Given the description of an element on the screen output the (x, y) to click on. 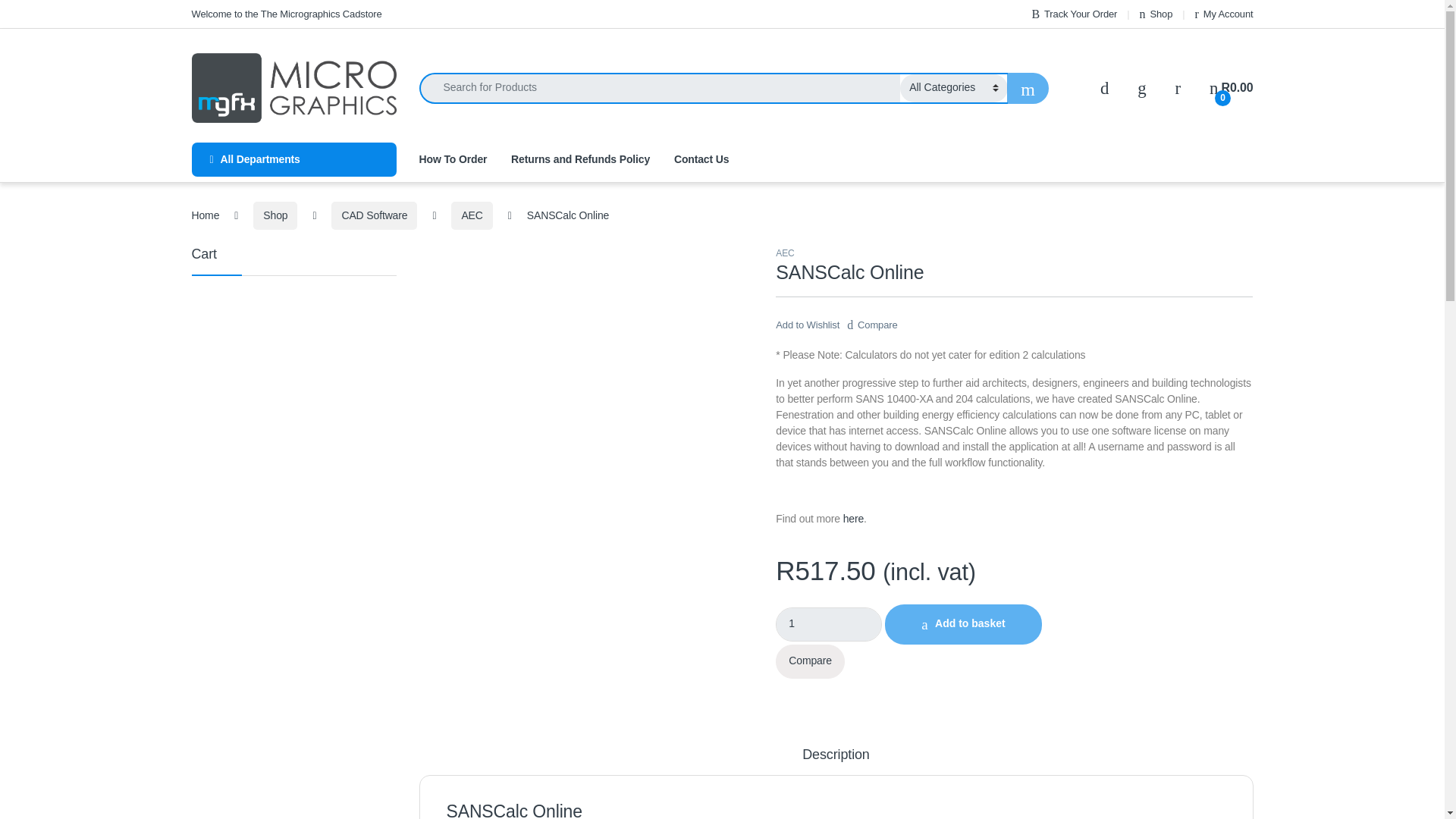
My Account (1224, 13)
Track Your Order (1073, 13)
Shop (1156, 13)
Welcome to the The Micrographics Cadstore (285, 13)
Shop (1156, 13)
My Account (1224, 13)
Track Your Order (1073, 13)
1 (829, 624)
Welcome to the The Micrographics Cadstore (285, 13)
